Given the description of an element on the screen output the (x, y) to click on. 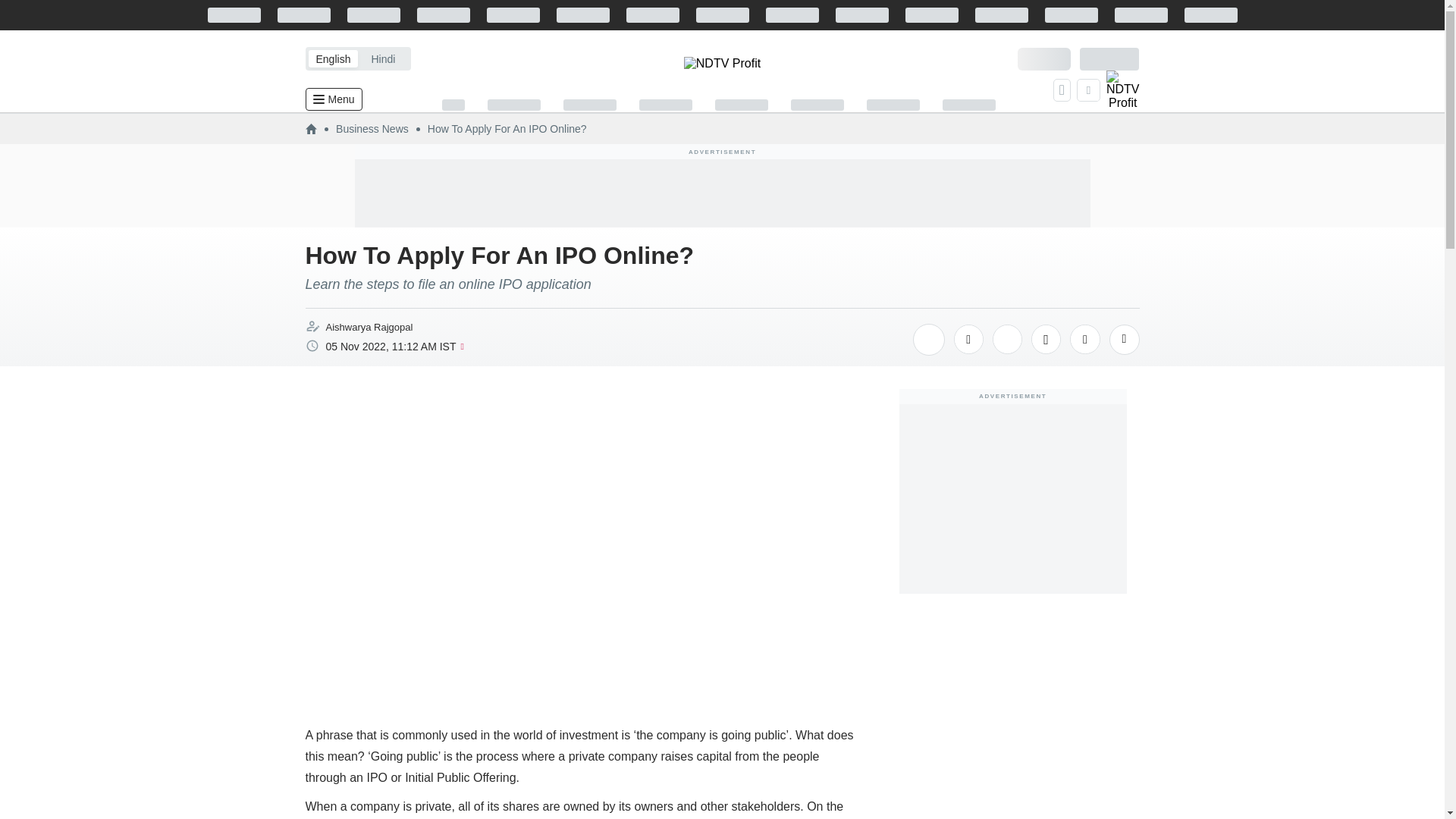
Hindi (382, 58)
English (332, 58)
Hindi (382, 58)
Menu (332, 98)
